Given the description of an element on the screen output the (x, y) to click on. 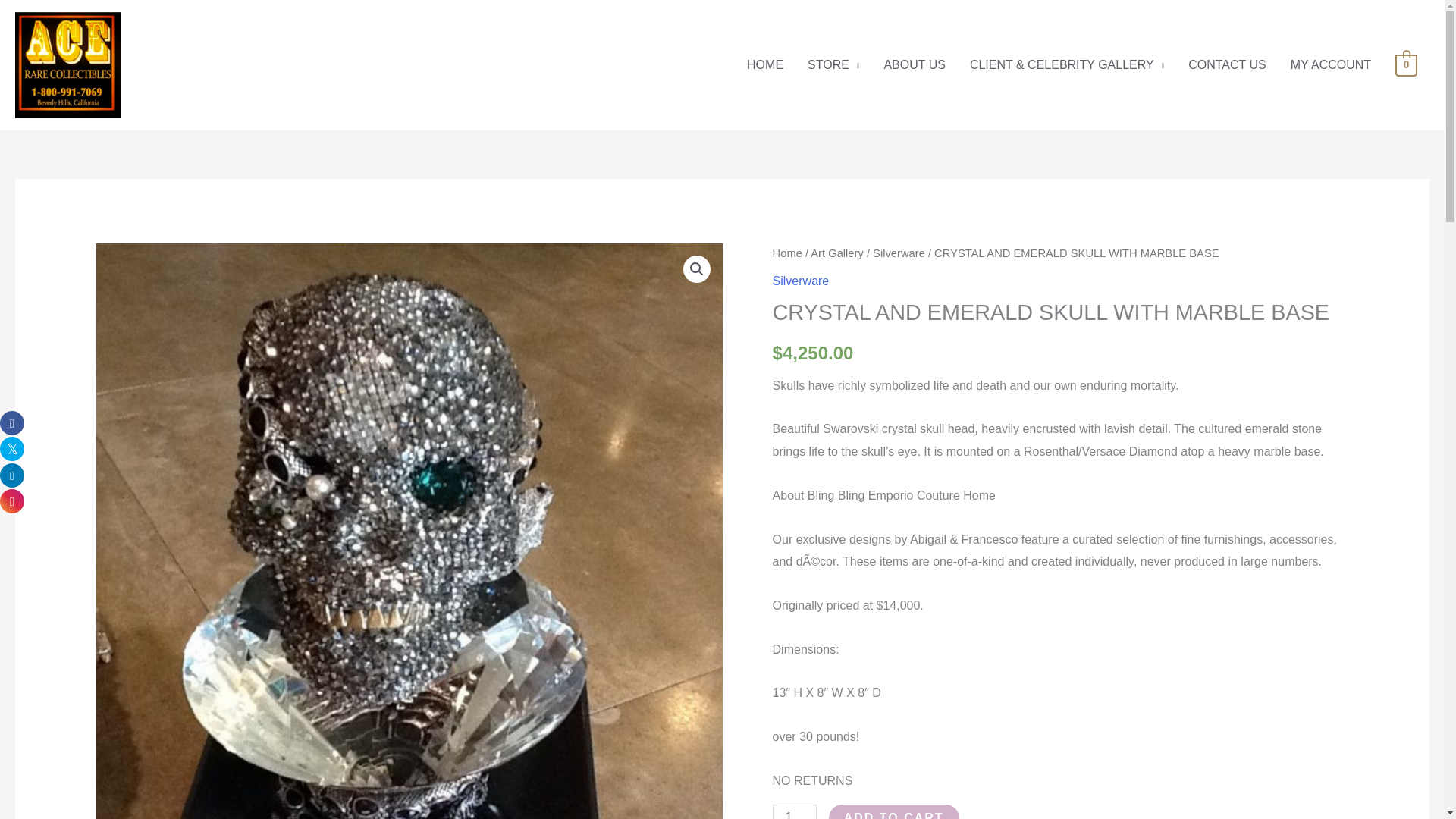
CONTACT US (1227, 64)
HOME (764, 64)
MY ACCOUNT (1330, 64)
ABOUT US (914, 64)
Silverware (801, 280)
0 (1405, 64)
1 (794, 811)
Silverware (898, 253)
Home (787, 253)
